Given the description of an element on the screen output the (x, y) to click on. 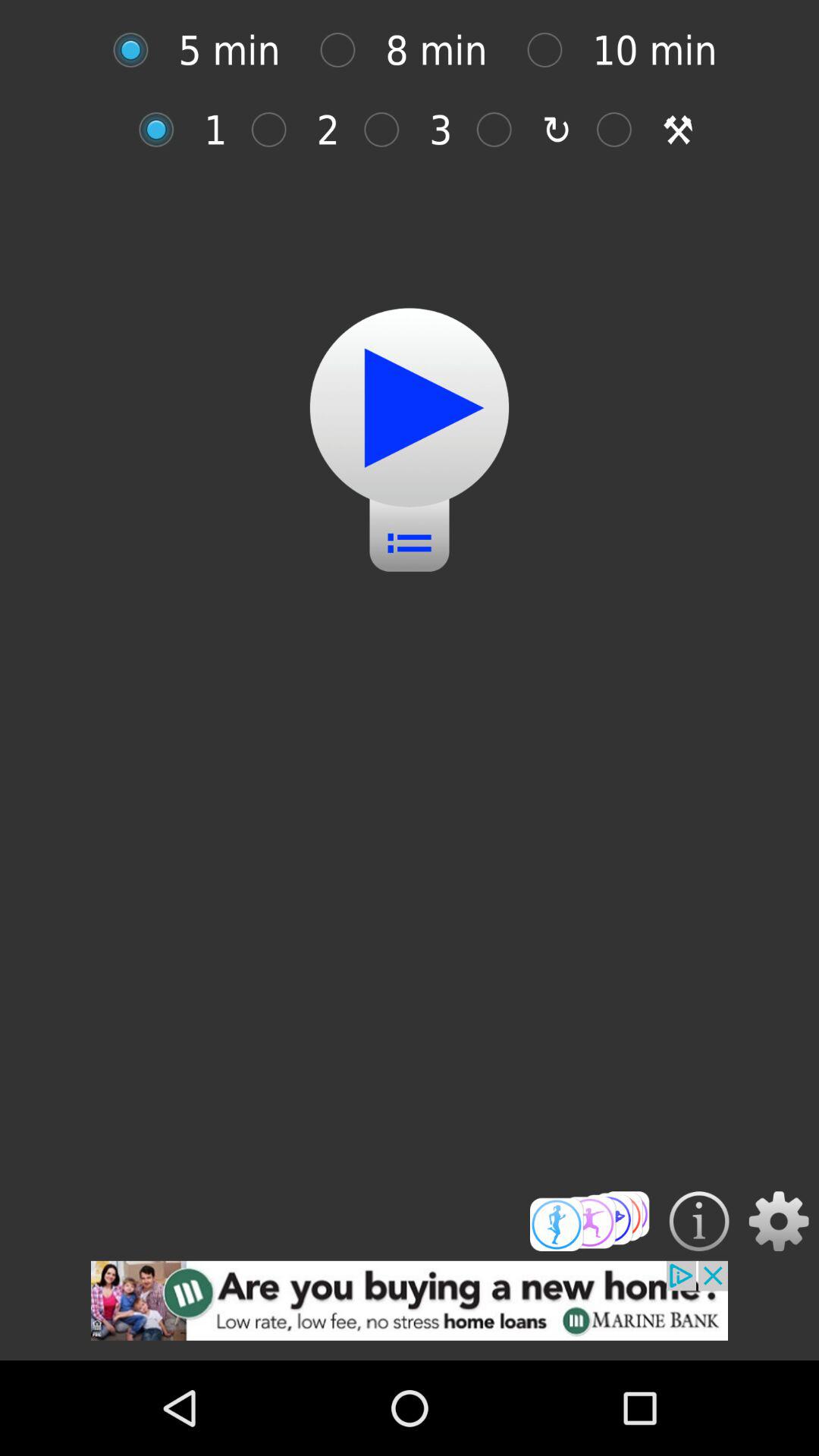
click settings icon (778, 1221)
